Given the description of an element on the screen output the (x, y) to click on. 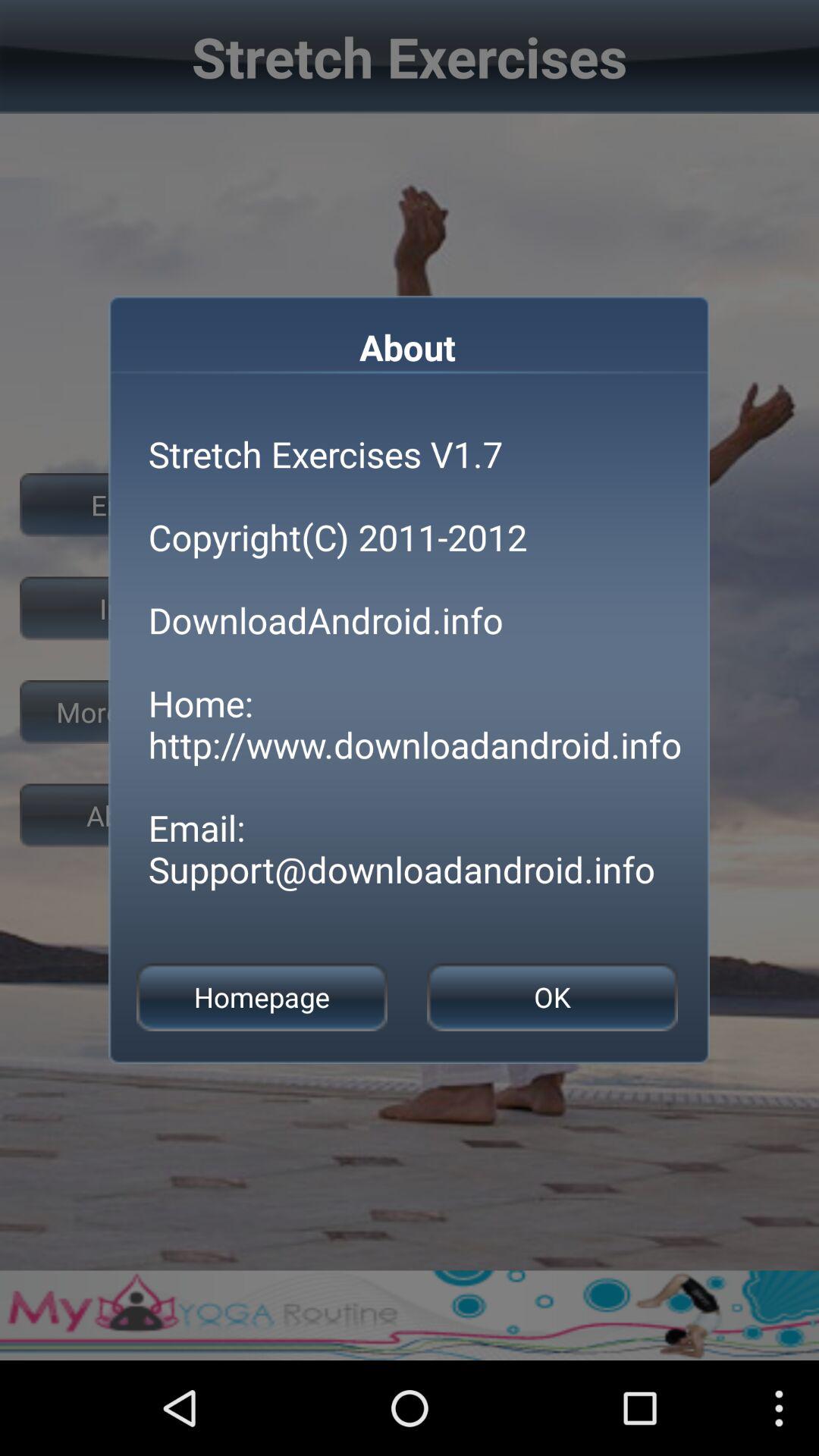
tap app below stretch exercises v1 app (261, 997)
